Given the description of an element on the screen output the (x, y) to click on. 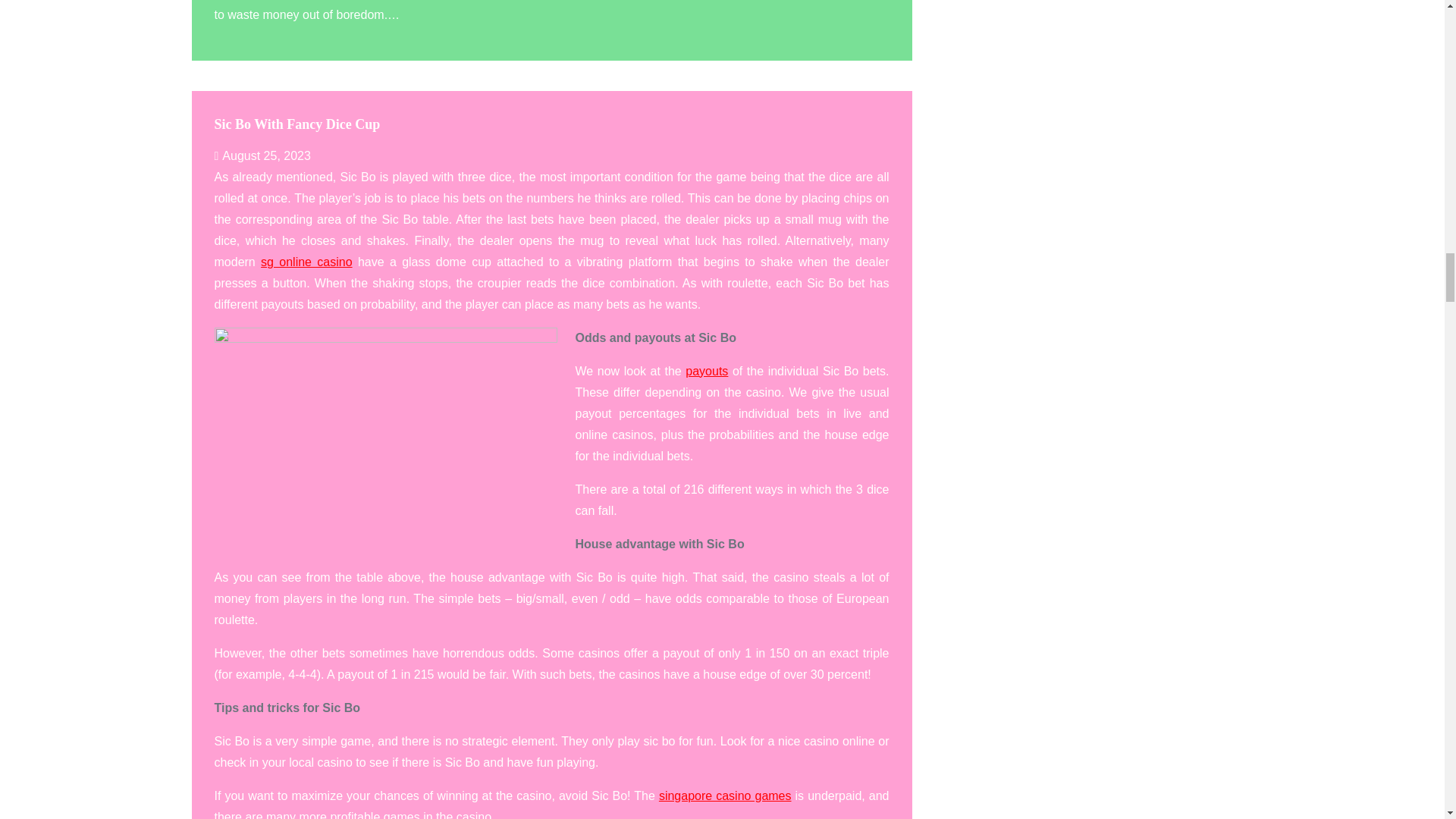
payouts (706, 370)
August 25, 2023 (262, 155)
sg online casino (306, 261)
Sic Bo With Fancy Dice Cup (297, 124)
singapore casino games (725, 795)
